Given the description of an element on the screen output the (x, y) to click on. 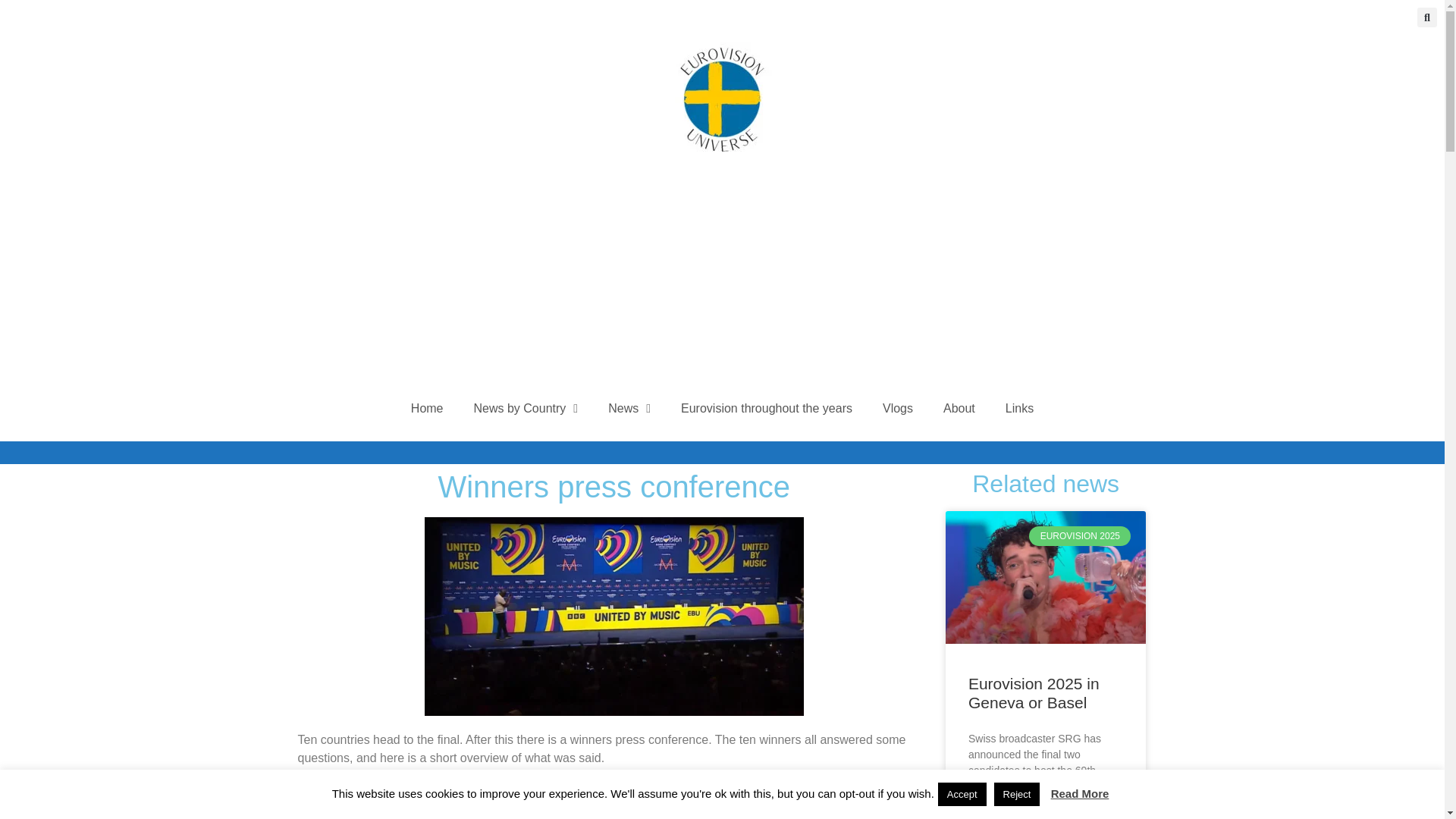
News by Country (526, 408)
Home (427, 408)
Croatia (316, 786)
